Given the description of an element on the screen output the (x, y) to click on. 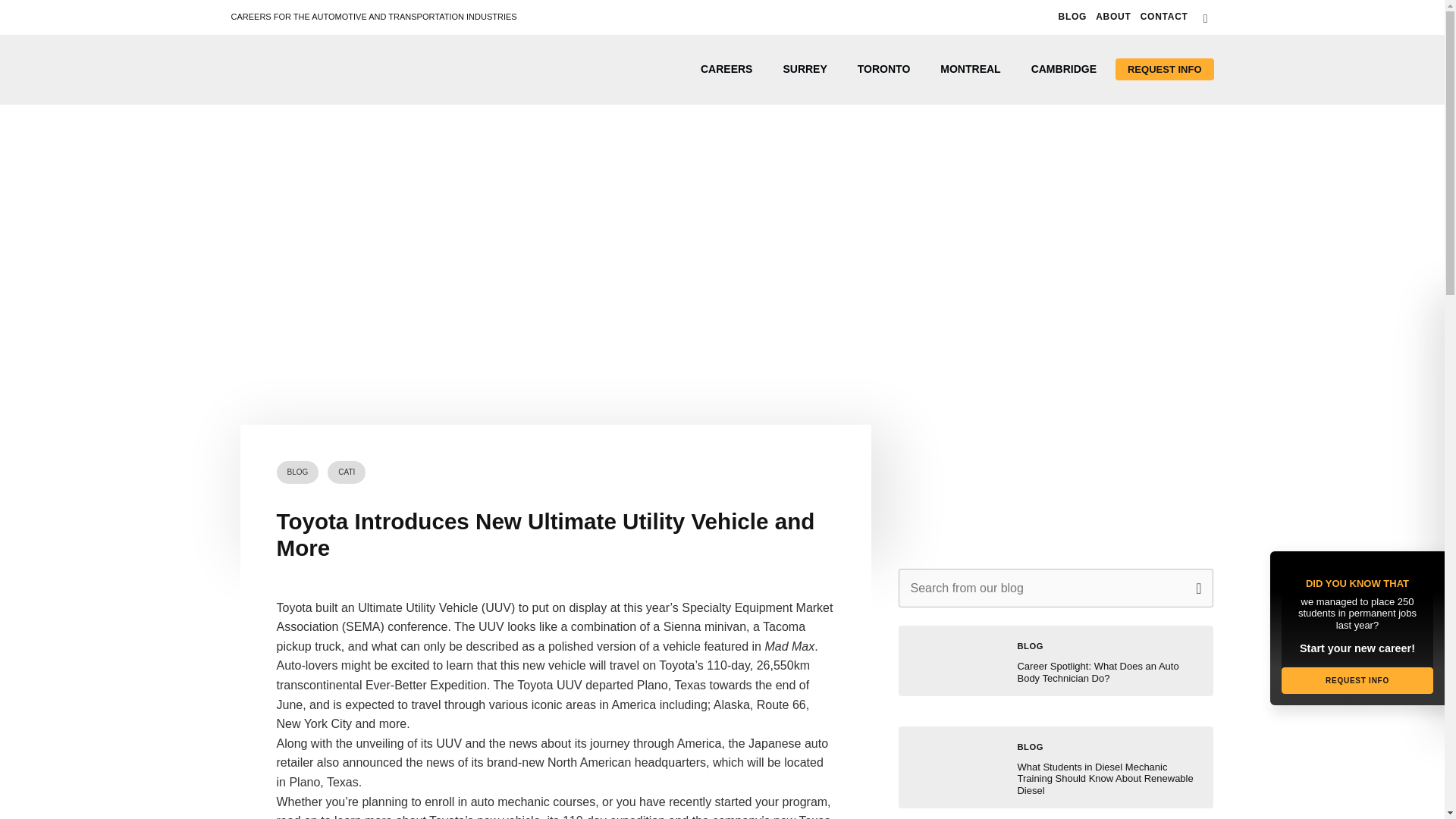
TORONTO (884, 69)
MONTREAL (969, 69)
Surrey (804, 69)
BLOG (297, 472)
About (1113, 17)
CAMBRIDGE (1064, 69)
Toronto (884, 69)
SURREY (804, 69)
Careers (726, 69)
ABOUT (1113, 17)
